Given the description of an element on the screen output the (x, y) to click on. 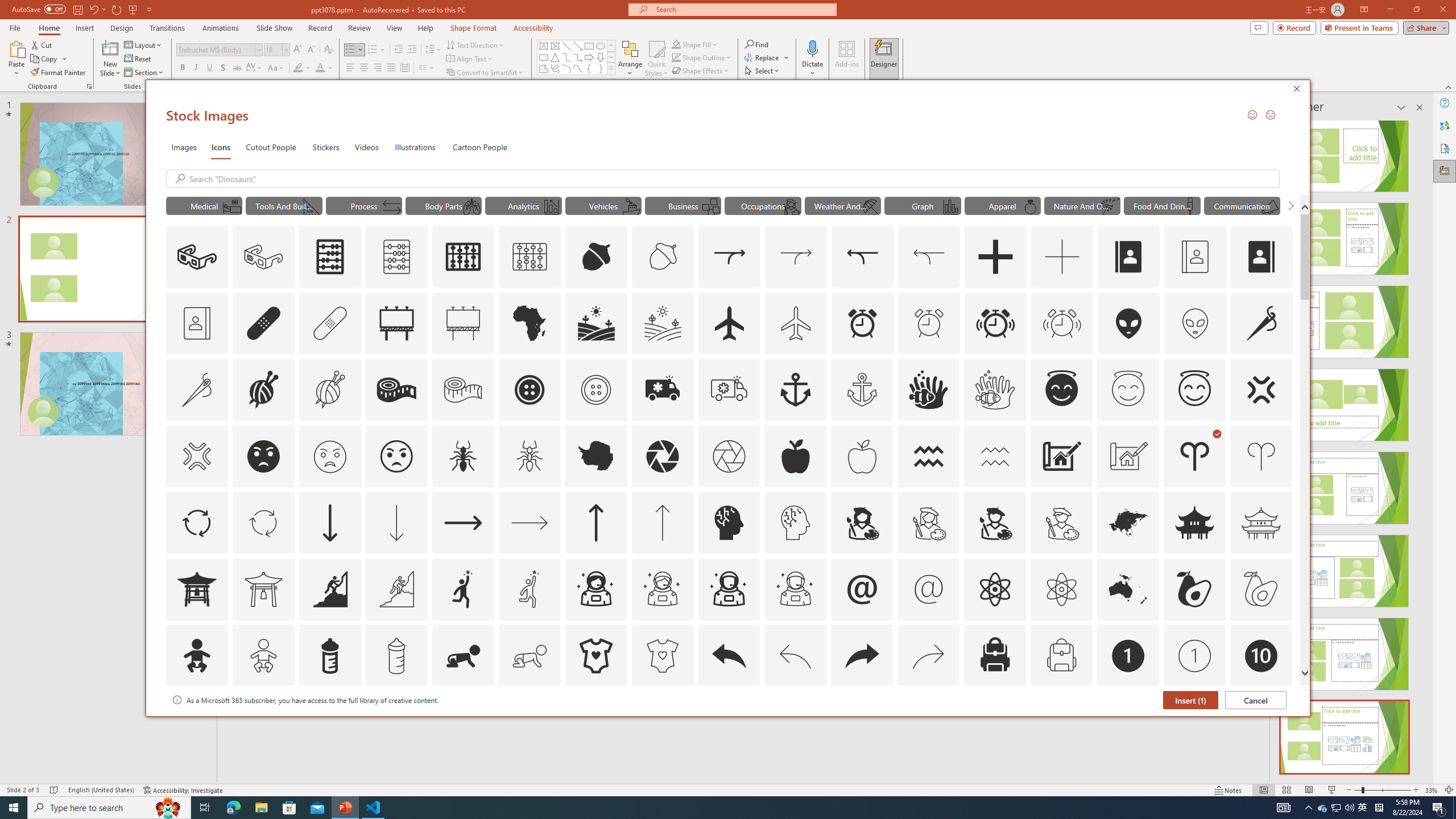
AutomationID: Icons_AddressBook_LTR (1128, 256)
AutomationID: Icons_Badge10_M (196, 721)
AutomationID: Icons_AnemoneAndClownfish_M (995, 389)
AutomationID: Icons_Aquarius_M (995, 455)
Zoom 33% (1431, 790)
